Given the description of an element on the screen output the (x, y) to click on. 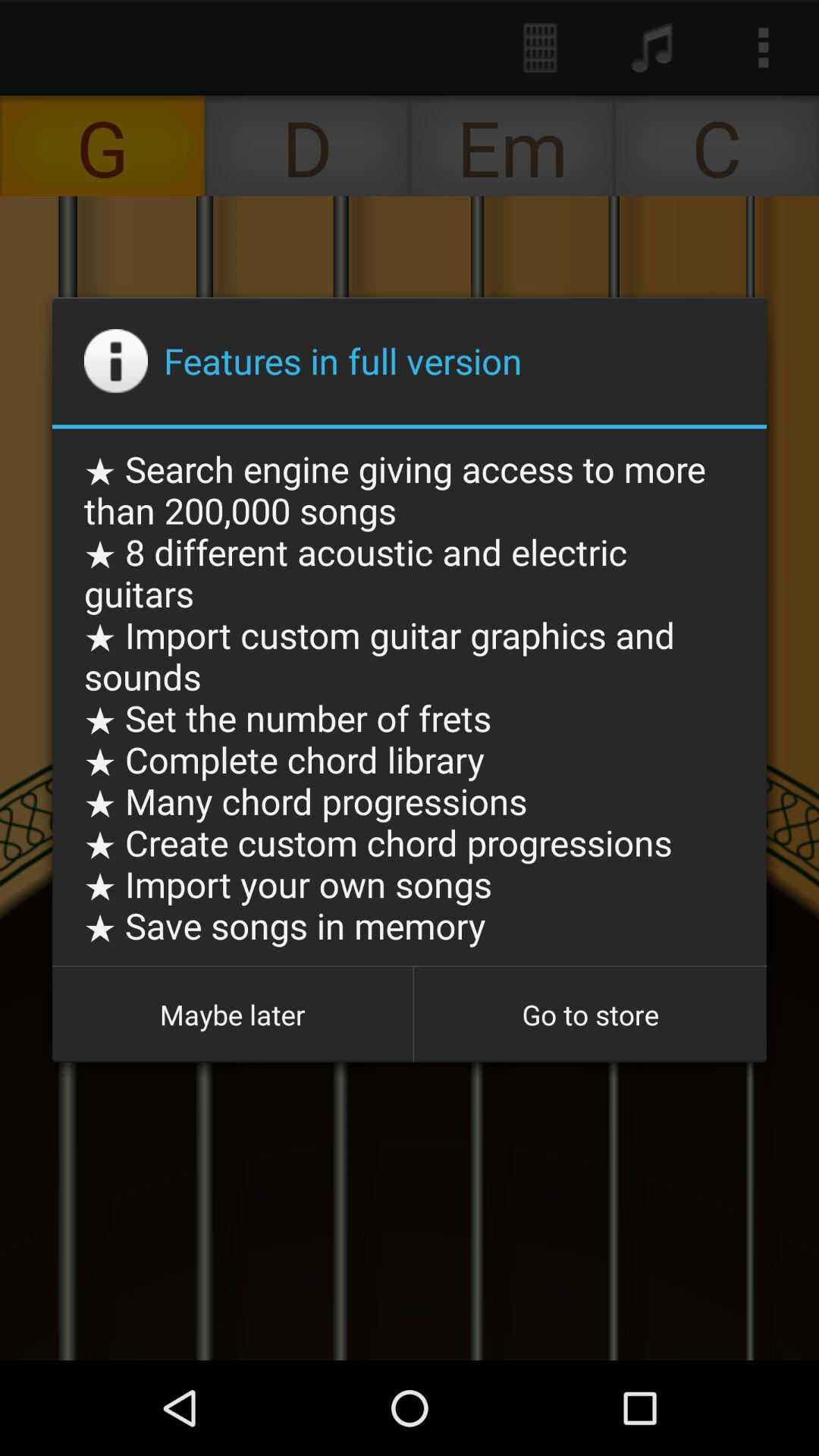
swipe until the go to store item (590, 1014)
